Given the description of an element on the screen output the (x, y) to click on. 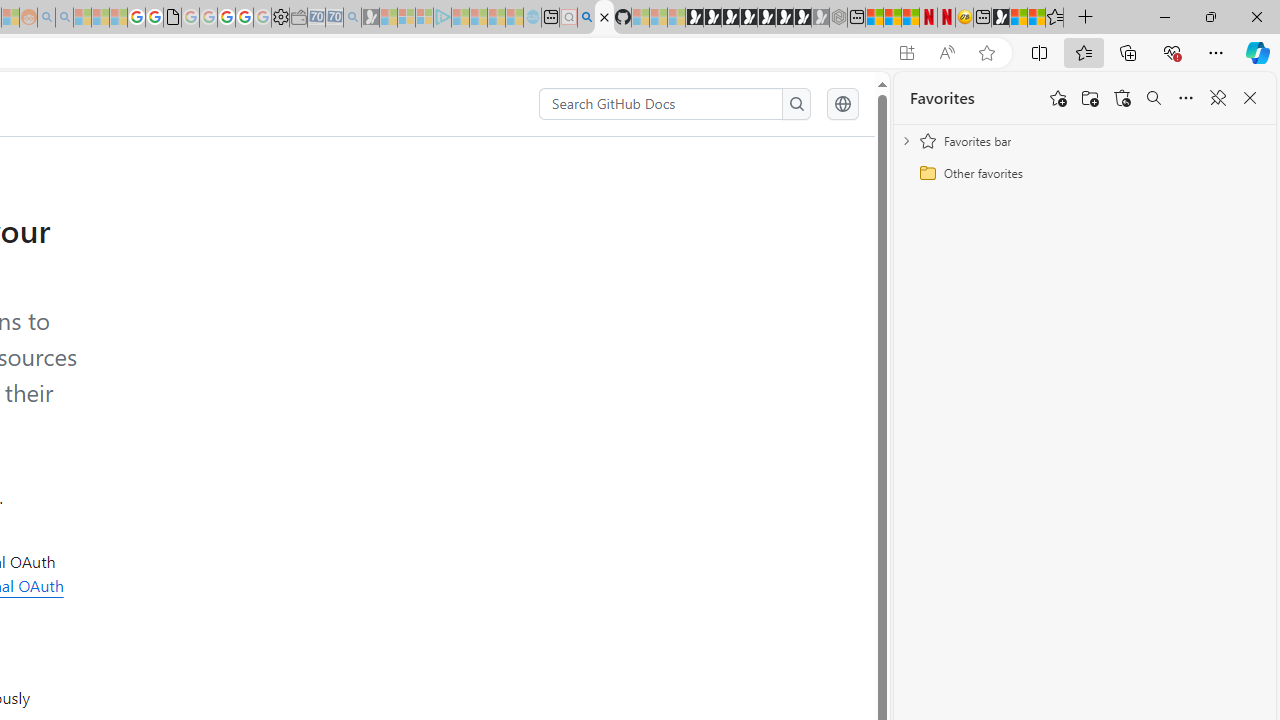
Restore deleted favorites (1122, 98)
Close favorites (1250, 98)
